Given the description of an element on the screen output the (x, y) to click on. 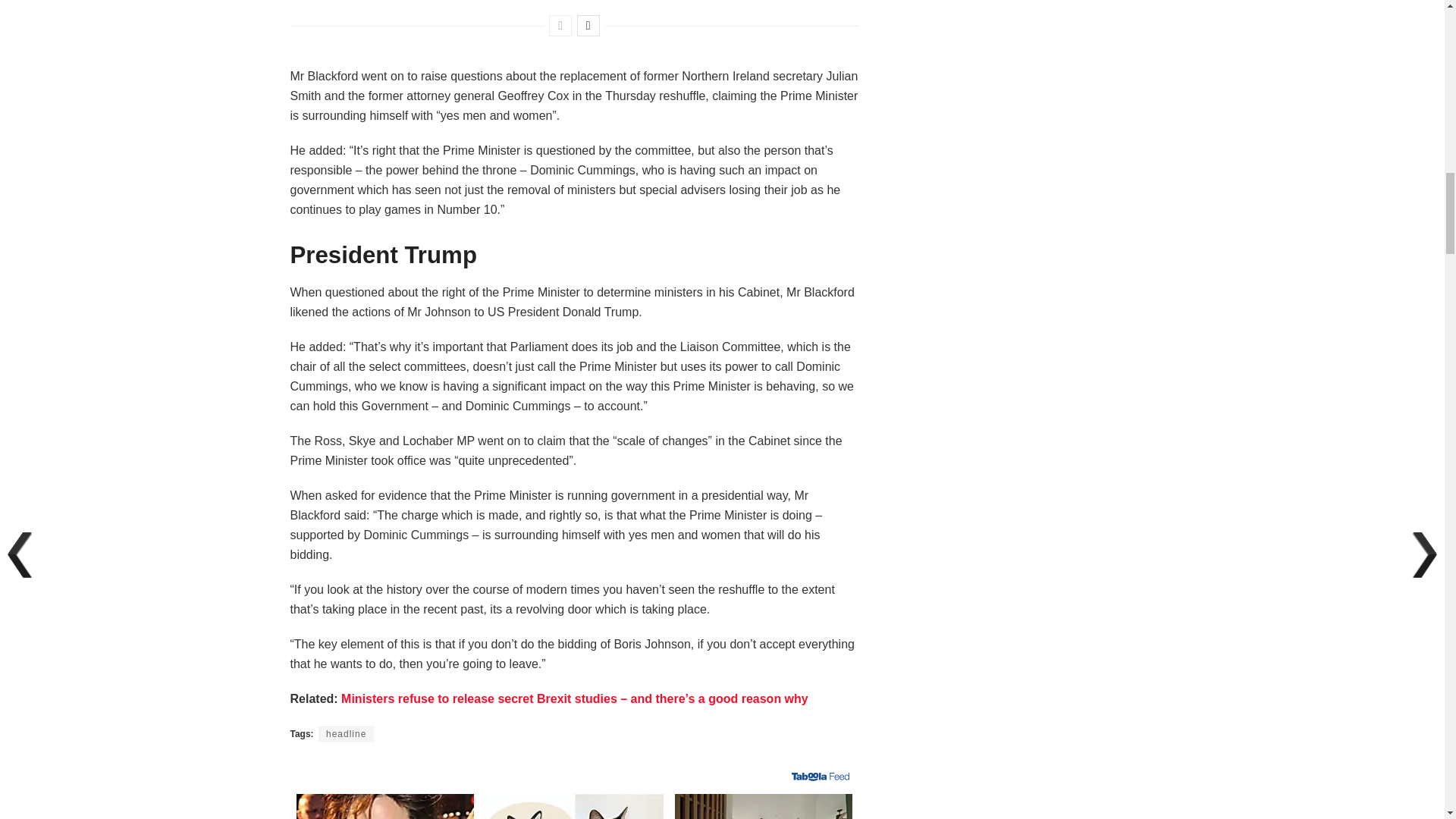
Next (587, 25)
Previous (560, 25)
